Given the description of an element on the screen output the (x, y) to click on. 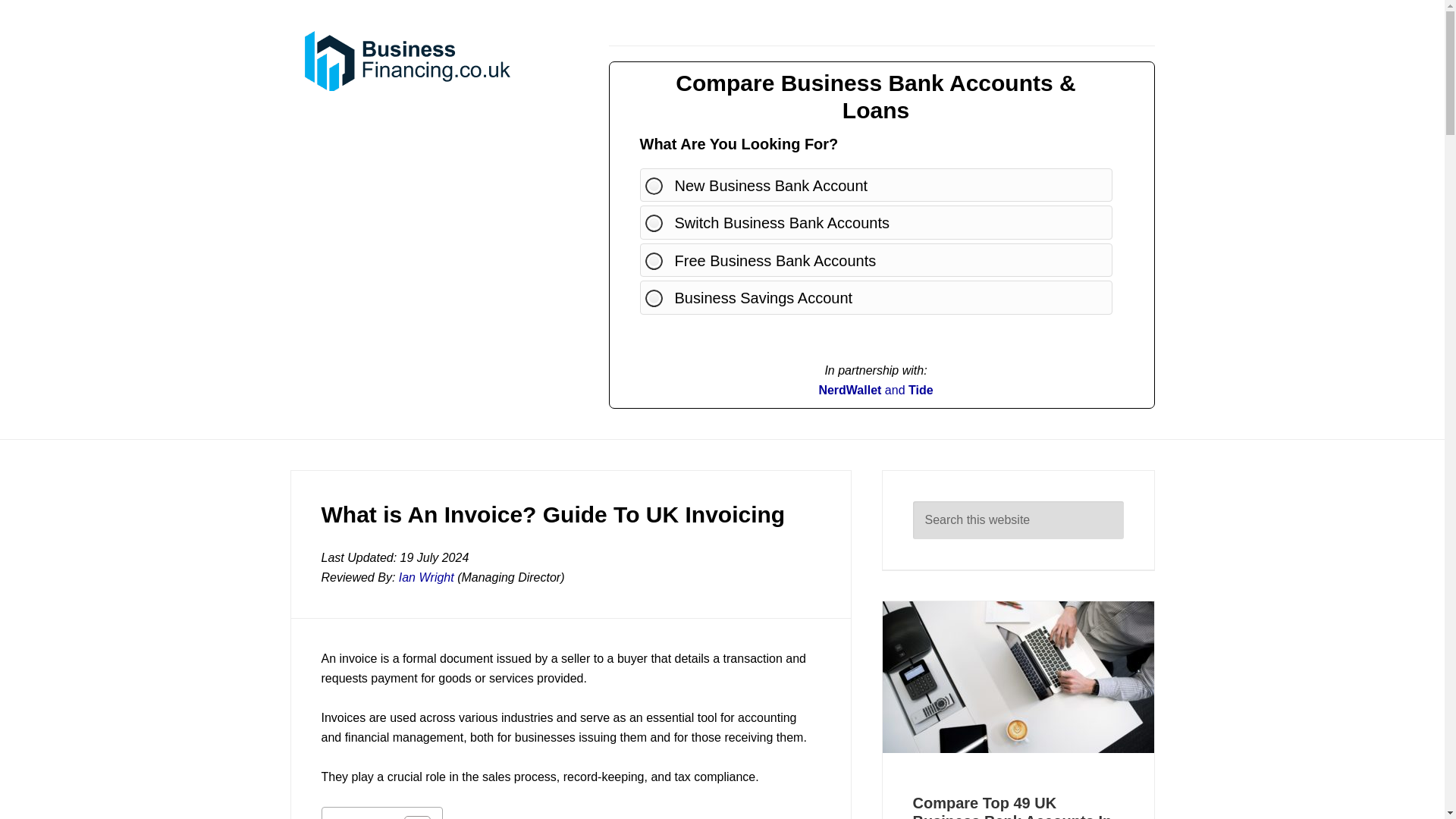
Tide (920, 390)
BusinessFinancing.co.uk (410, 60)
Ian Wright (426, 576)
NerdWallet and (863, 390)
Compare (875, 337)
Compare Top 49 UK Business Bank Accounts In 2024 (1012, 806)
